Given the description of an element on the screen output the (x, y) to click on. 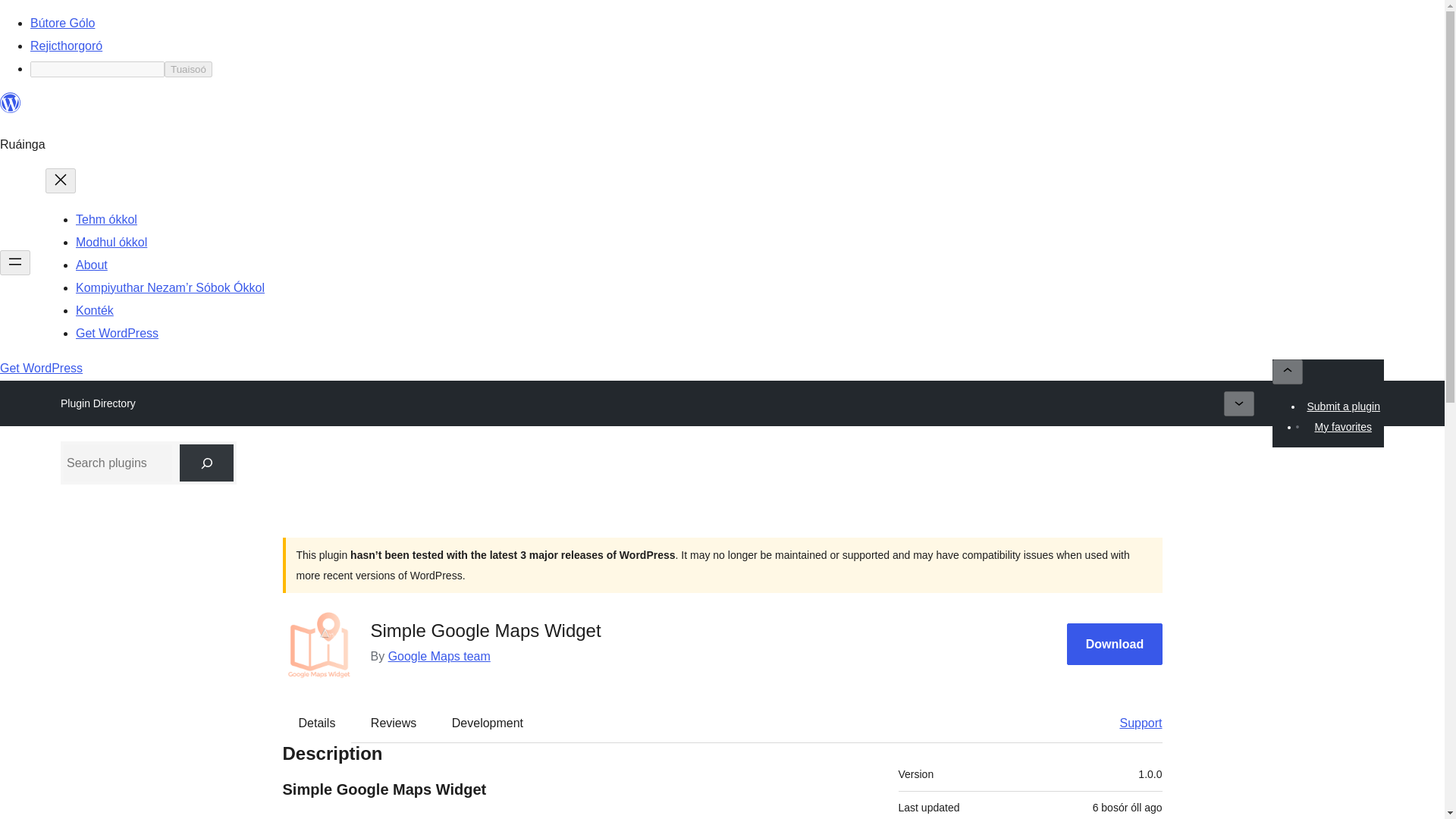
Support (1132, 723)
Get WordPress (41, 367)
Get WordPress (116, 332)
Details (316, 723)
Download (1114, 644)
Submit a plugin (1343, 406)
Reviews (392, 723)
WordPress.org (10, 102)
About (91, 264)
My favorites (1342, 426)
WordPress.org (10, 109)
Google Maps team (439, 656)
Development (487, 723)
Plugin Directory (97, 403)
